Given the description of an element on the screen output the (x, y) to click on. 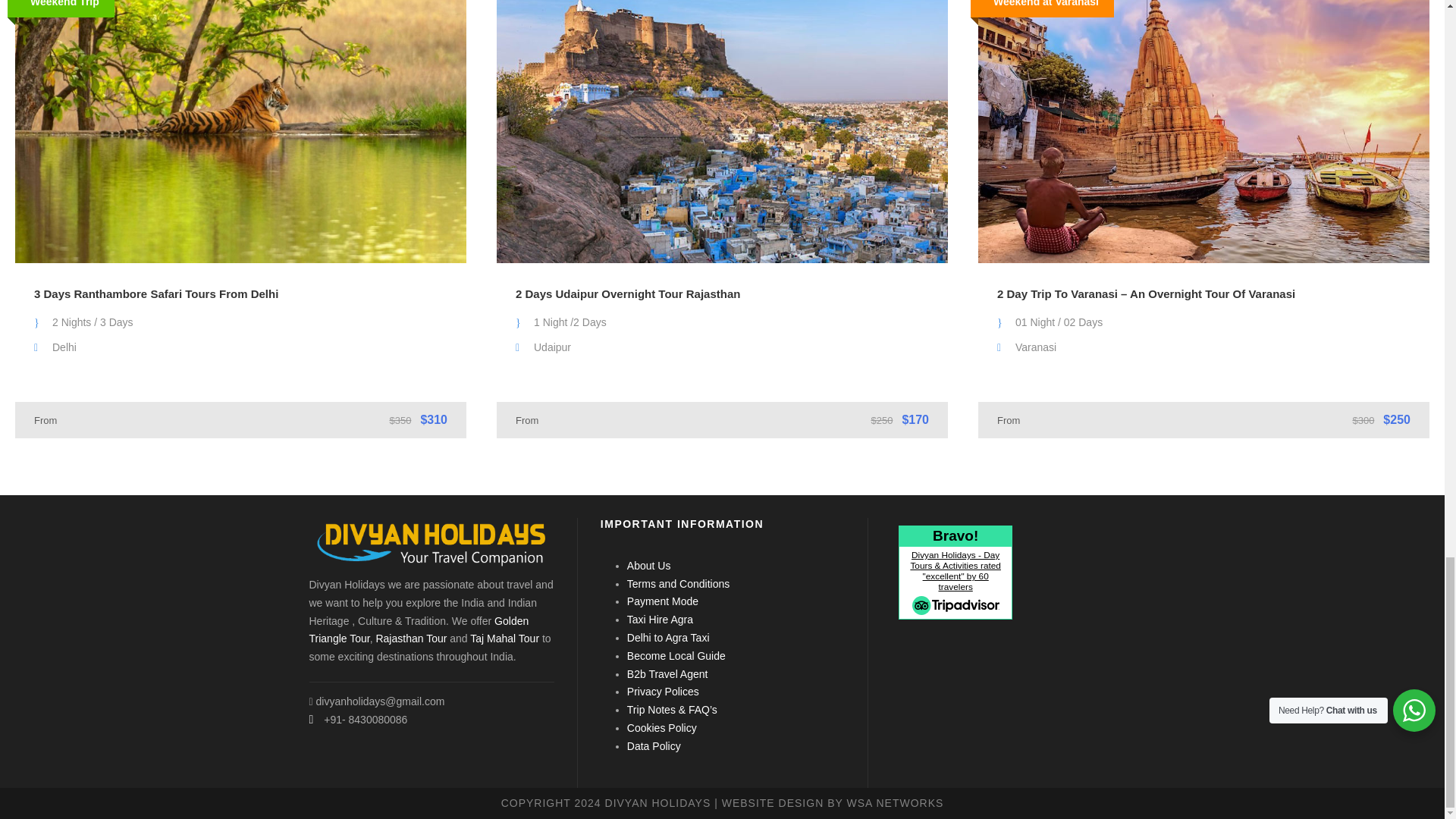
Travel to India (431, 543)
